Given the description of an element on the screen output the (x, y) to click on. 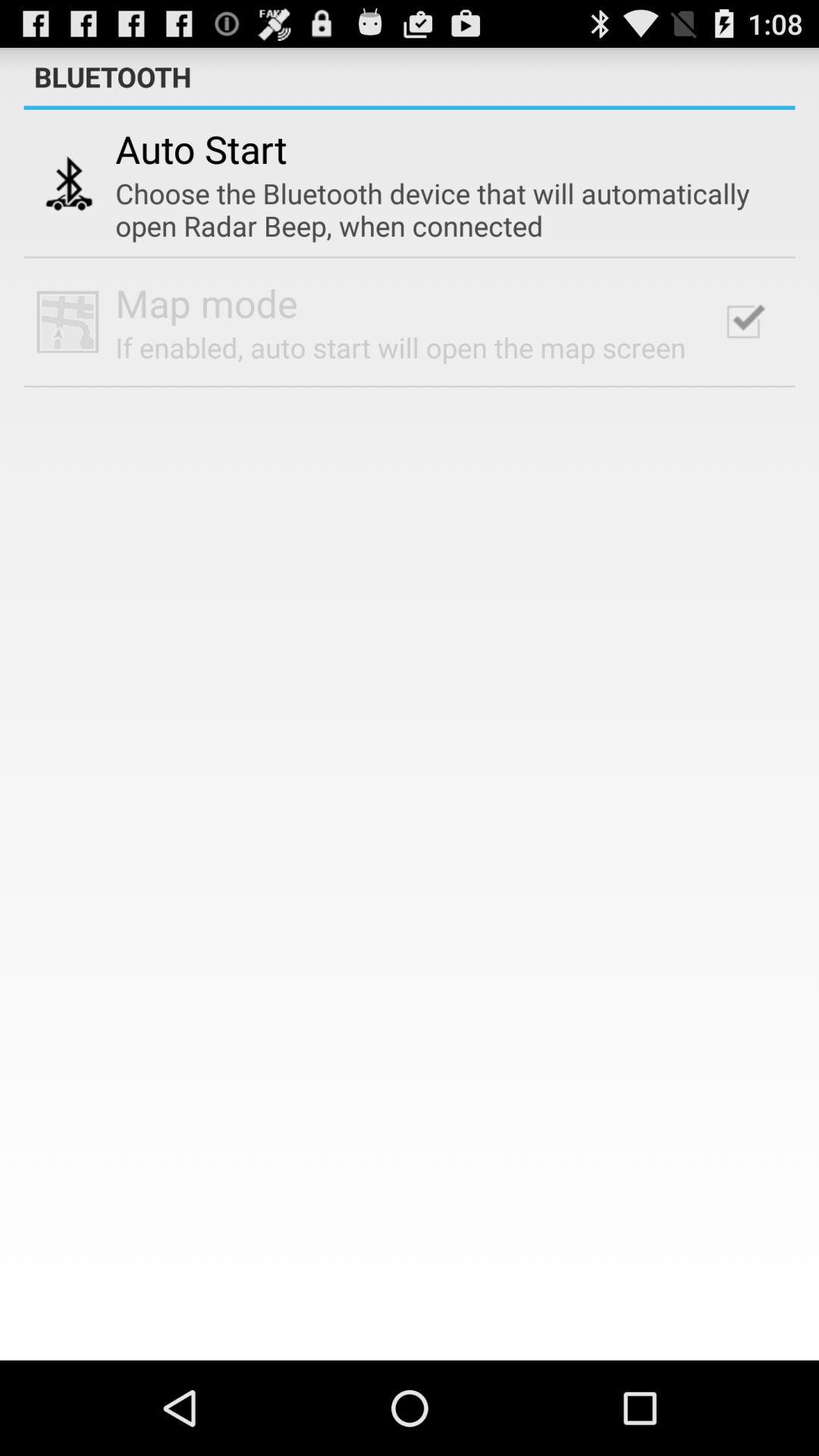
turn off the icon above auto start icon (409, 107)
